Given the description of an element on the screen output the (x, y) to click on. 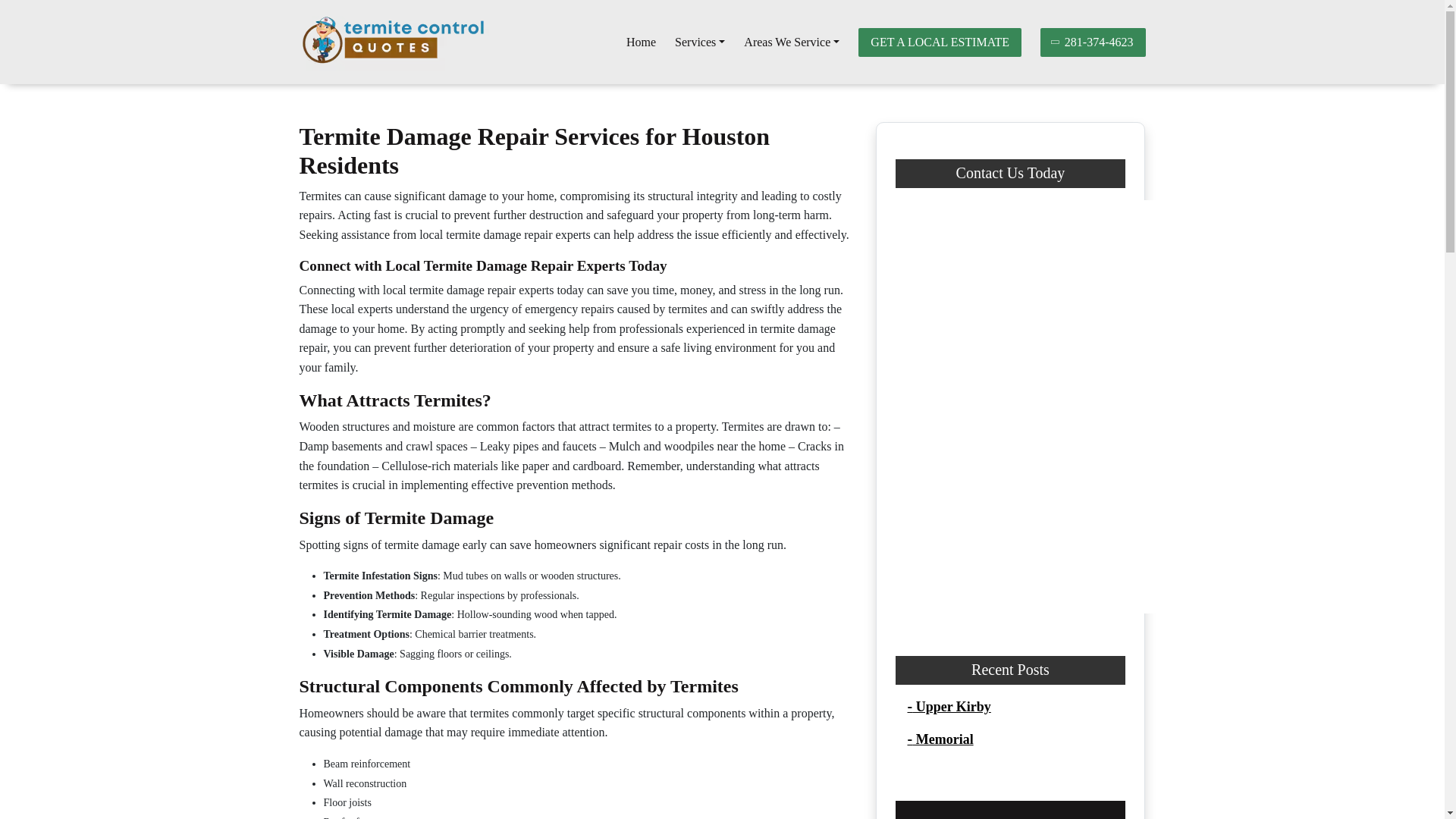
Areas We Service (792, 42)
- Memorial (939, 739)
281-374-4623 (1093, 41)
Services (700, 42)
Home (641, 42)
- Upper Kirby (948, 706)
Services (700, 42)
Areas We Service (792, 42)
GET A LOCAL ESTIMATE (940, 41)
Home (641, 42)
